Given the description of an element on the screen output the (x, y) to click on. 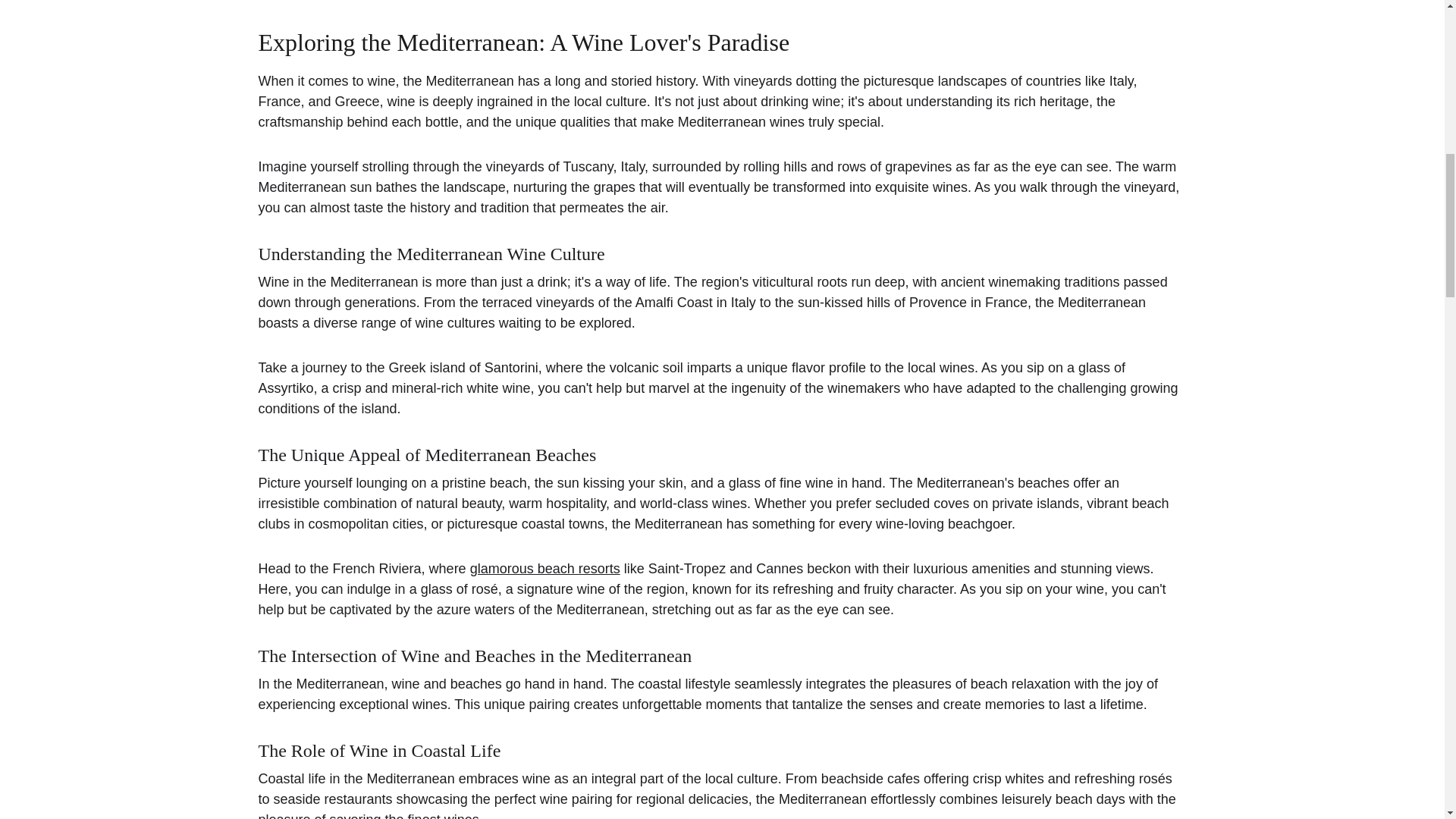
glamorous beach resorts (545, 568)
